Given the description of an element on the screen output the (x, y) to click on. 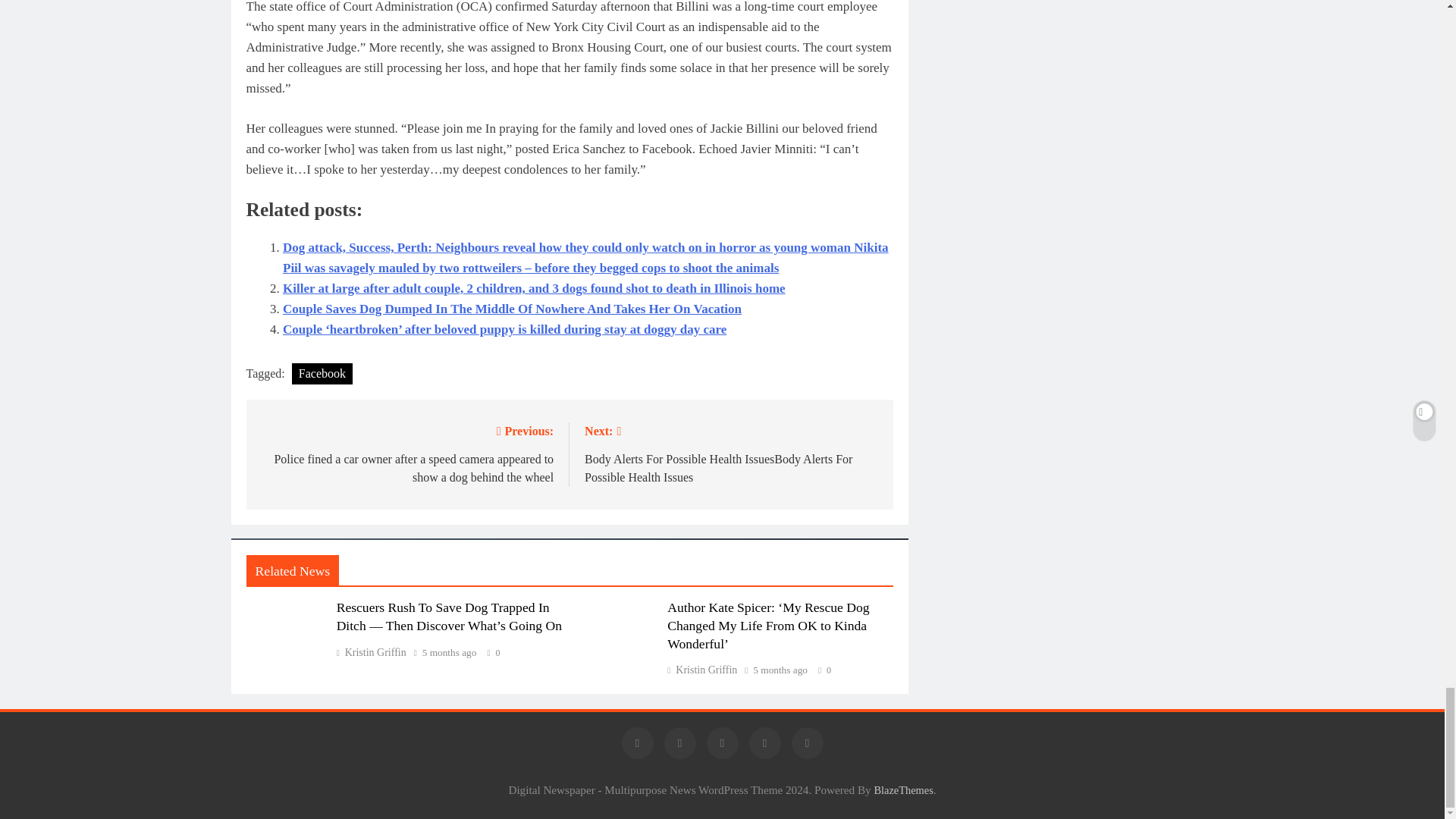
5 months ago (780, 670)
Kristin Griffin (701, 669)
5 months ago (449, 652)
Kristin Griffin (371, 652)
